Given the description of an element on the screen output the (x, y) to click on. 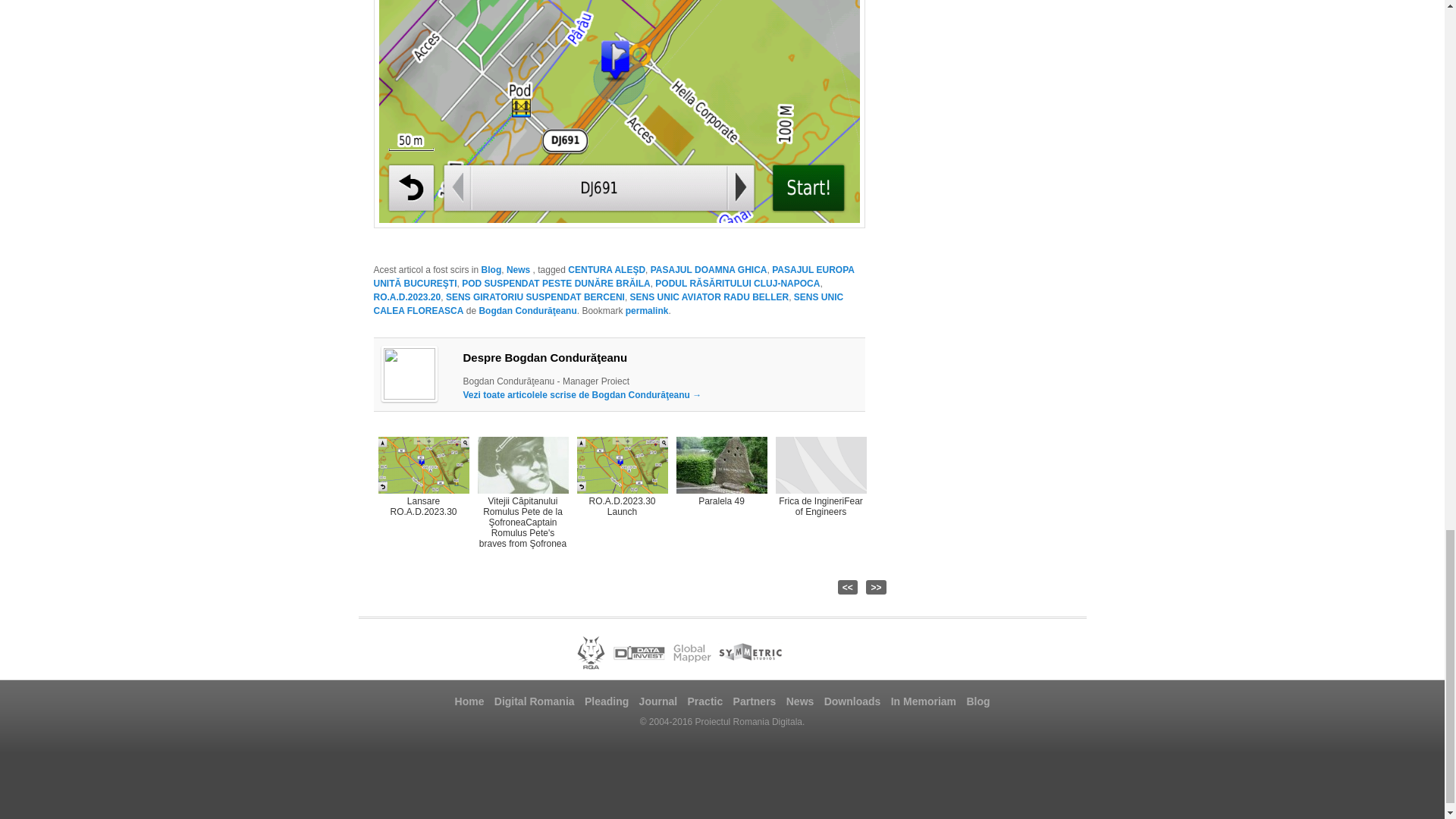
Permalink to RO.A.D.2023.20 Launch (647, 310)
